Given the description of an element on the screen output the (x, y) to click on. 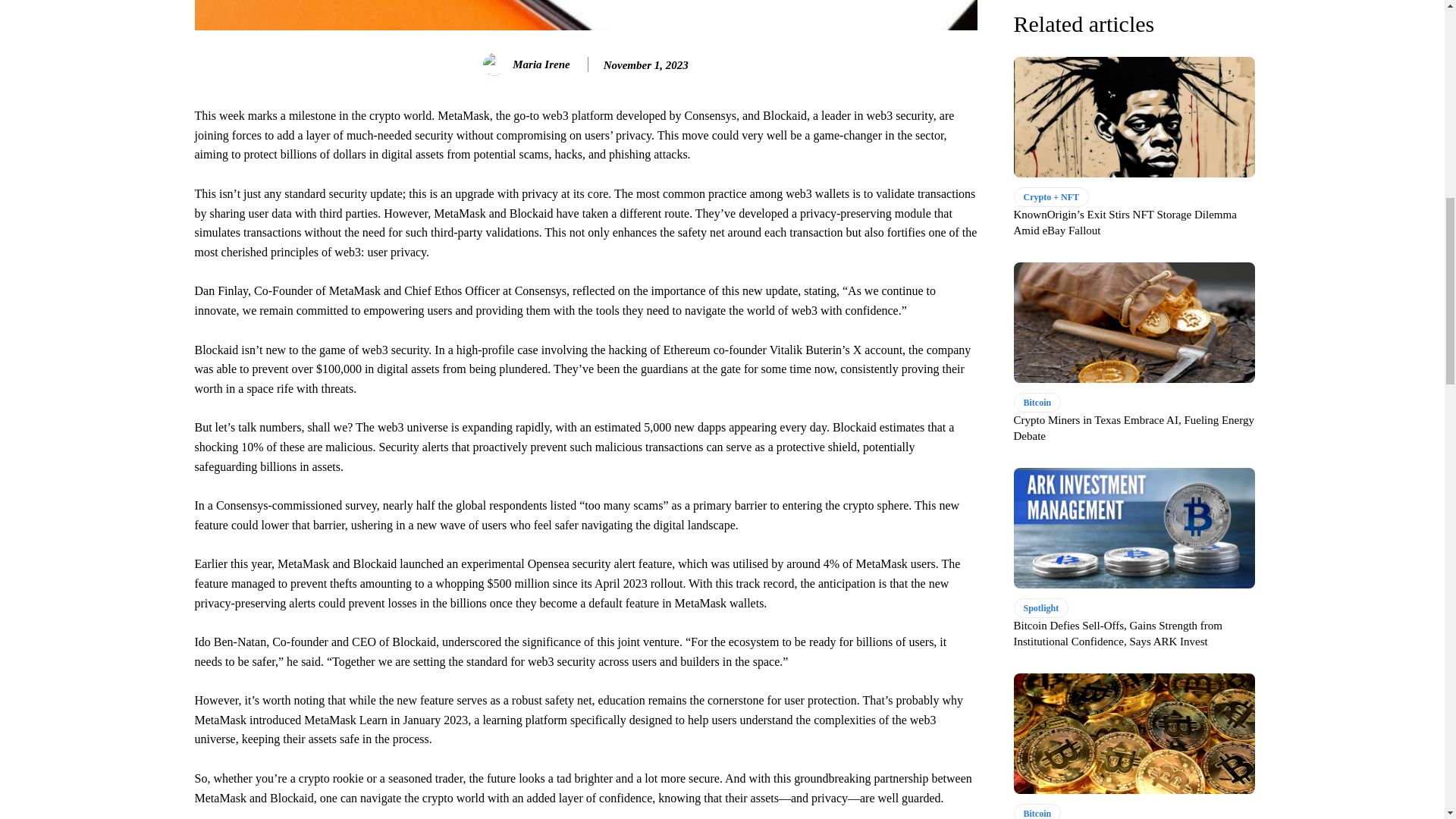
Maria Irene (497, 64)
